Given the description of an element on the screen output the (x, y) to click on. 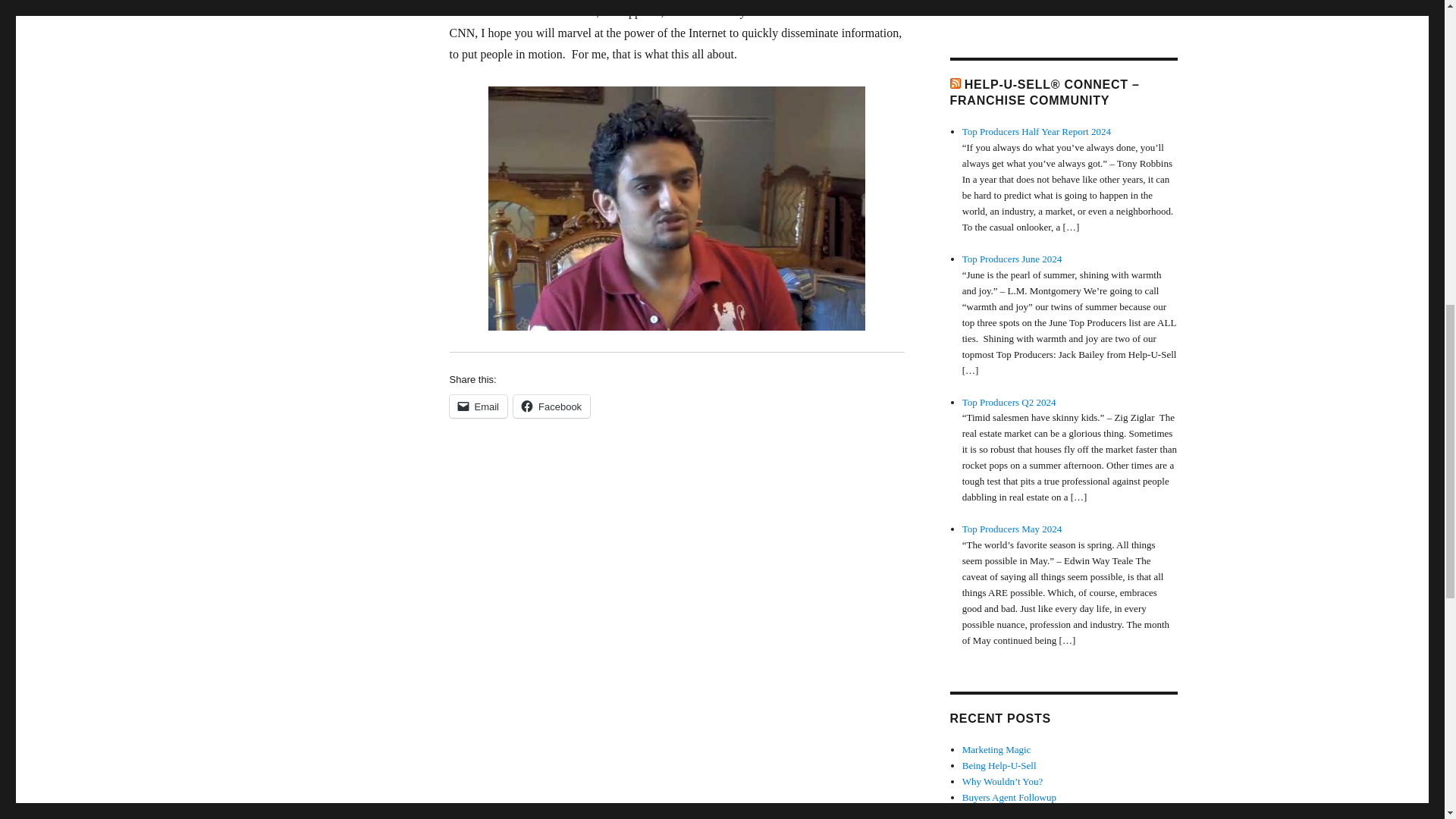
Being Help-U-Sell (999, 765)
Wael (675, 208)
Buyers Agent Followup (1009, 797)
Top Producers Half Year Report 2024 (1036, 131)
Email (477, 405)
SUBSCRIBE (988, 7)
Top Producers Q2 2024 (1009, 401)
Click to share on Facebook (551, 405)
Marketing Magic (996, 749)
Facebook (551, 405)
